Given the description of an element on the screen output the (x, y) to click on. 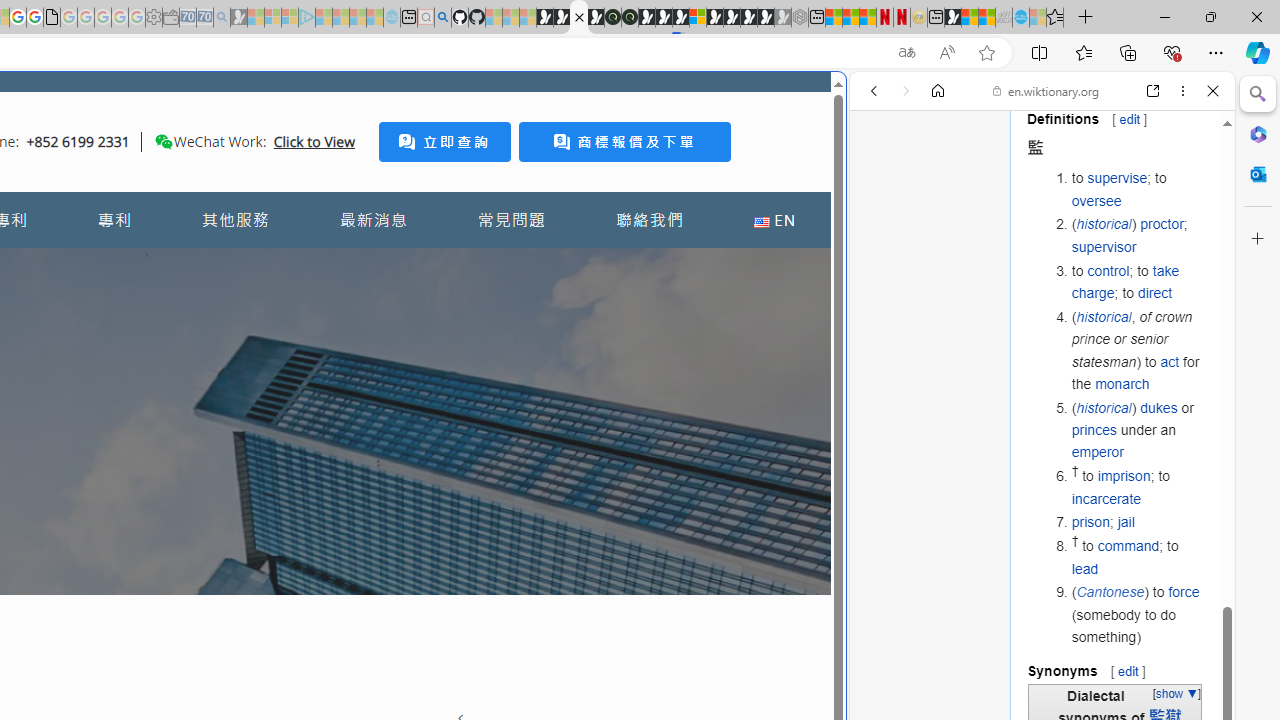
incarcerate (1106, 498)
lead (1085, 568)
